Given the description of an element on the screen output the (x, y) to click on. 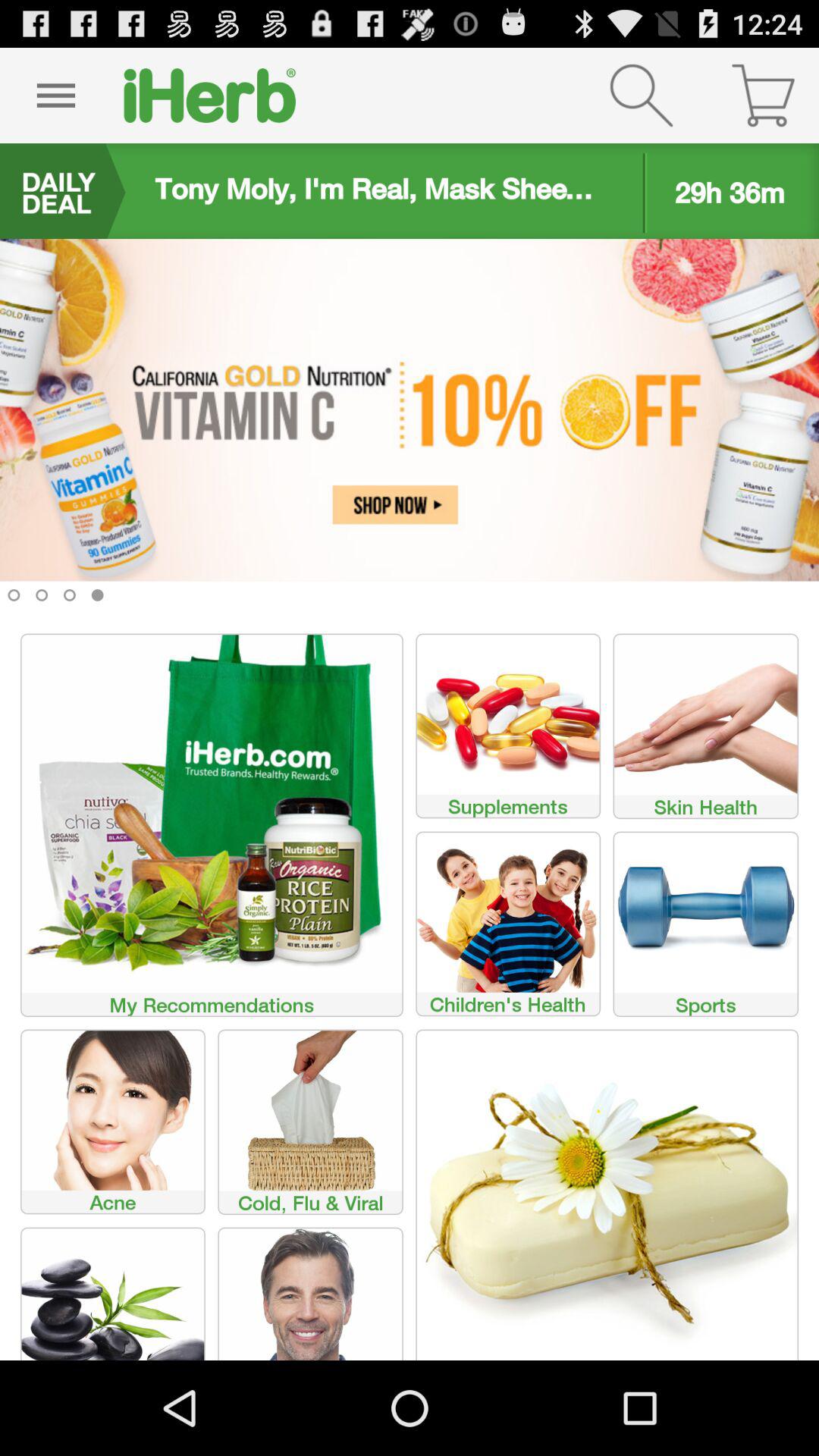
menu (55, 95)
